Given the description of an element on the screen output the (x, y) to click on. 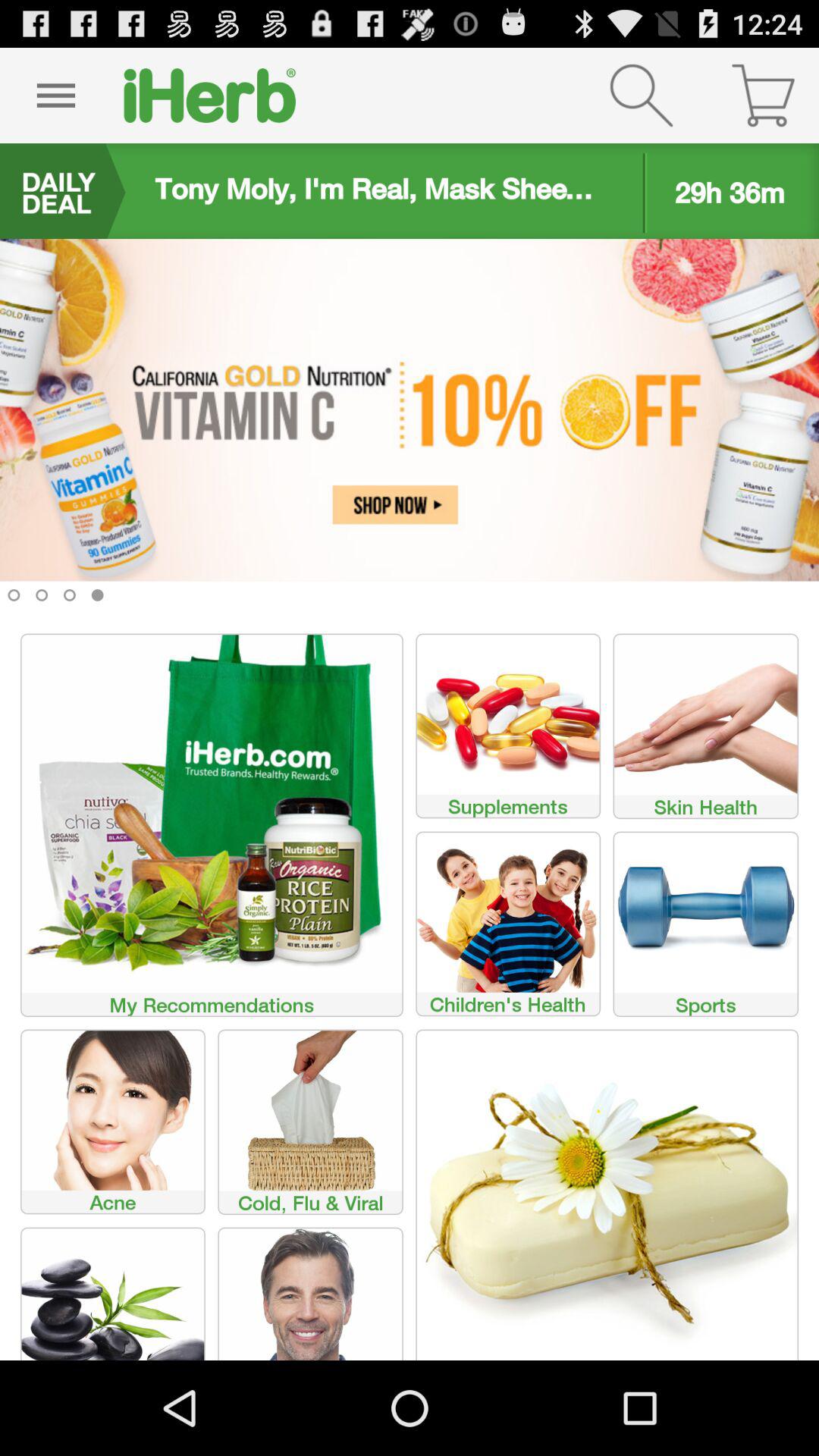
menu (55, 95)
